Given the description of an element on the screen output the (x, y) to click on. 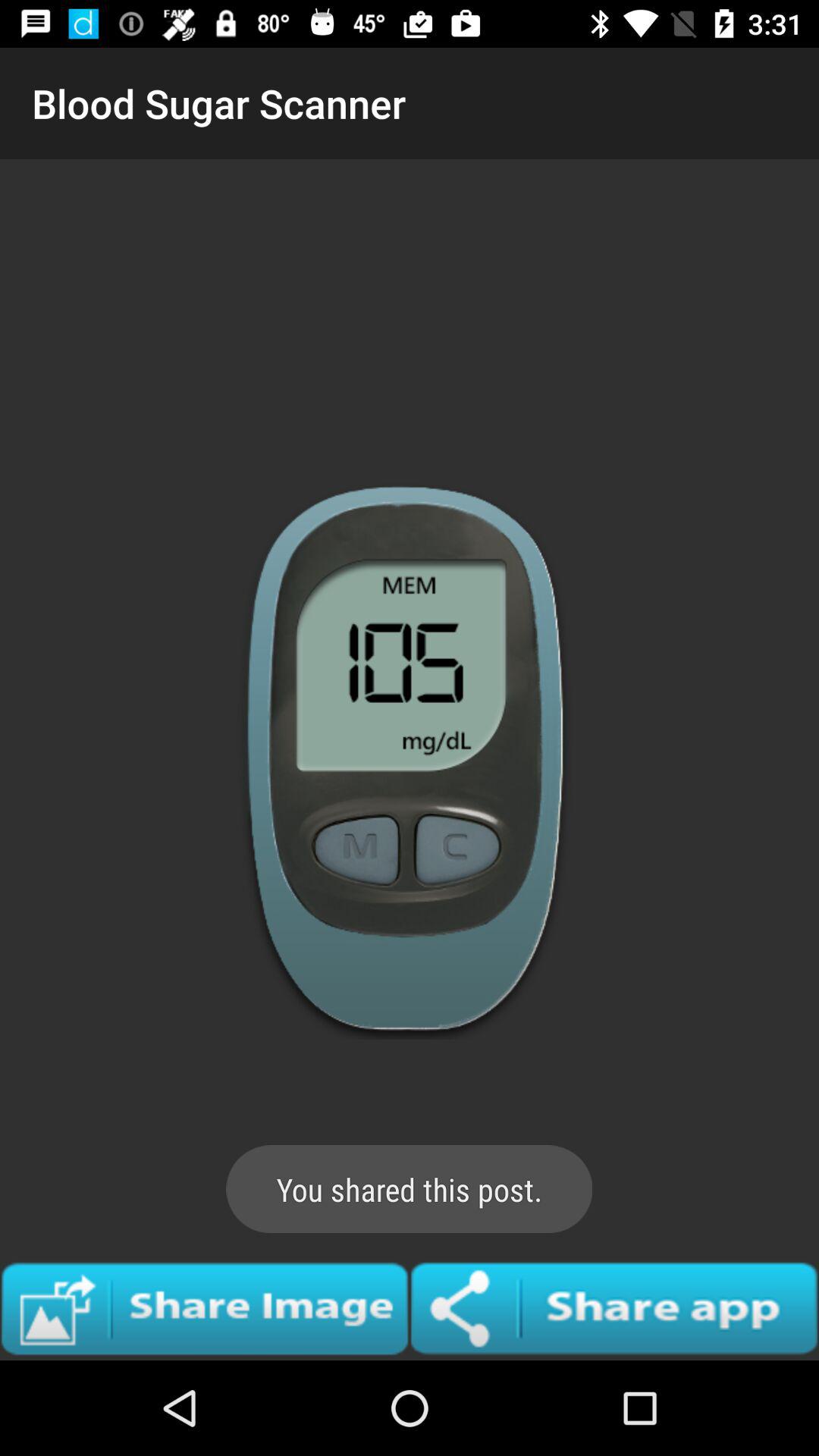
share the article (204, 1308)
